Given the description of an element on the screen output the (x, y) to click on. 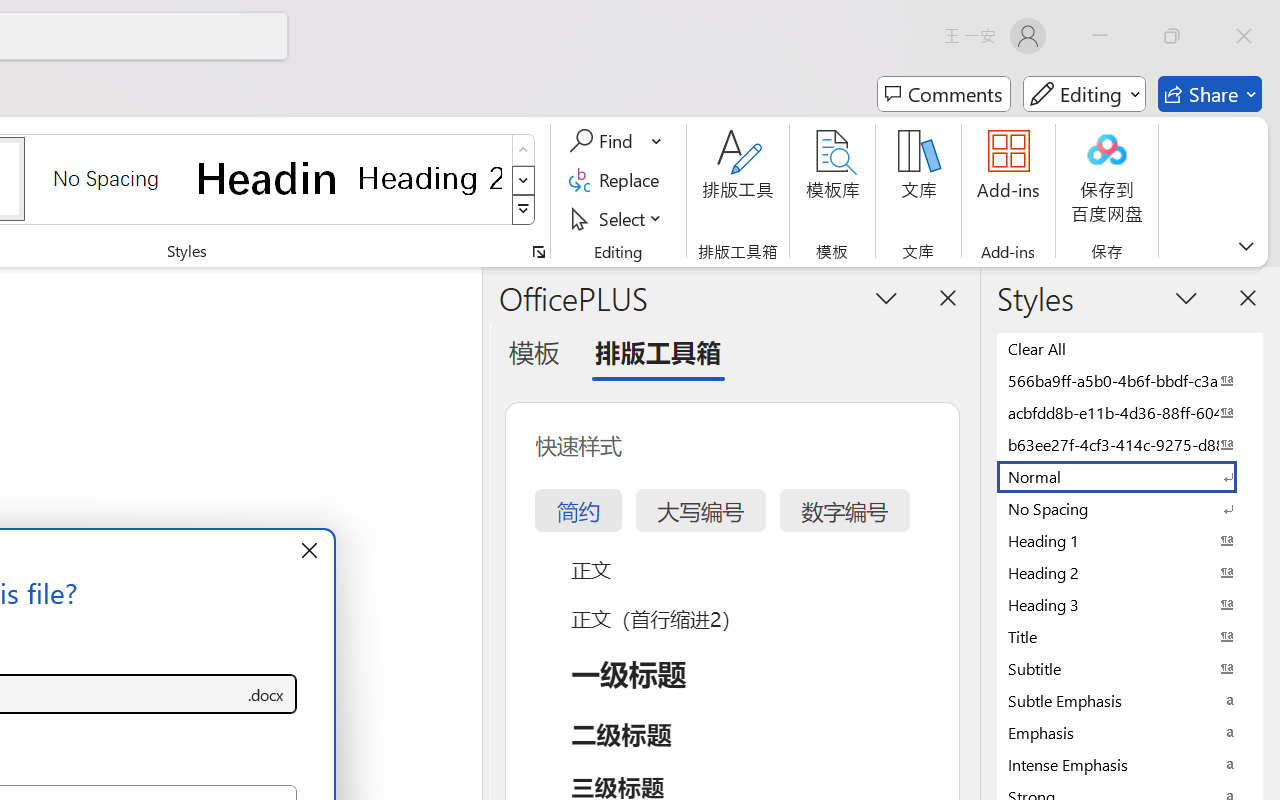
No Spacing (1130, 508)
Select (618, 218)
Subtle Emphasis (1130, 700)
566ba9ff-a5b0-4b6f-bbdf-c3ab41993fc2 (1130, 380)
Mode (1083, 94)
Heading 2 (429, 178)
Heading 1 (267, 178)
Row up (523, 150)
